Given the description of an element on the screen output the (x, y) to click on. 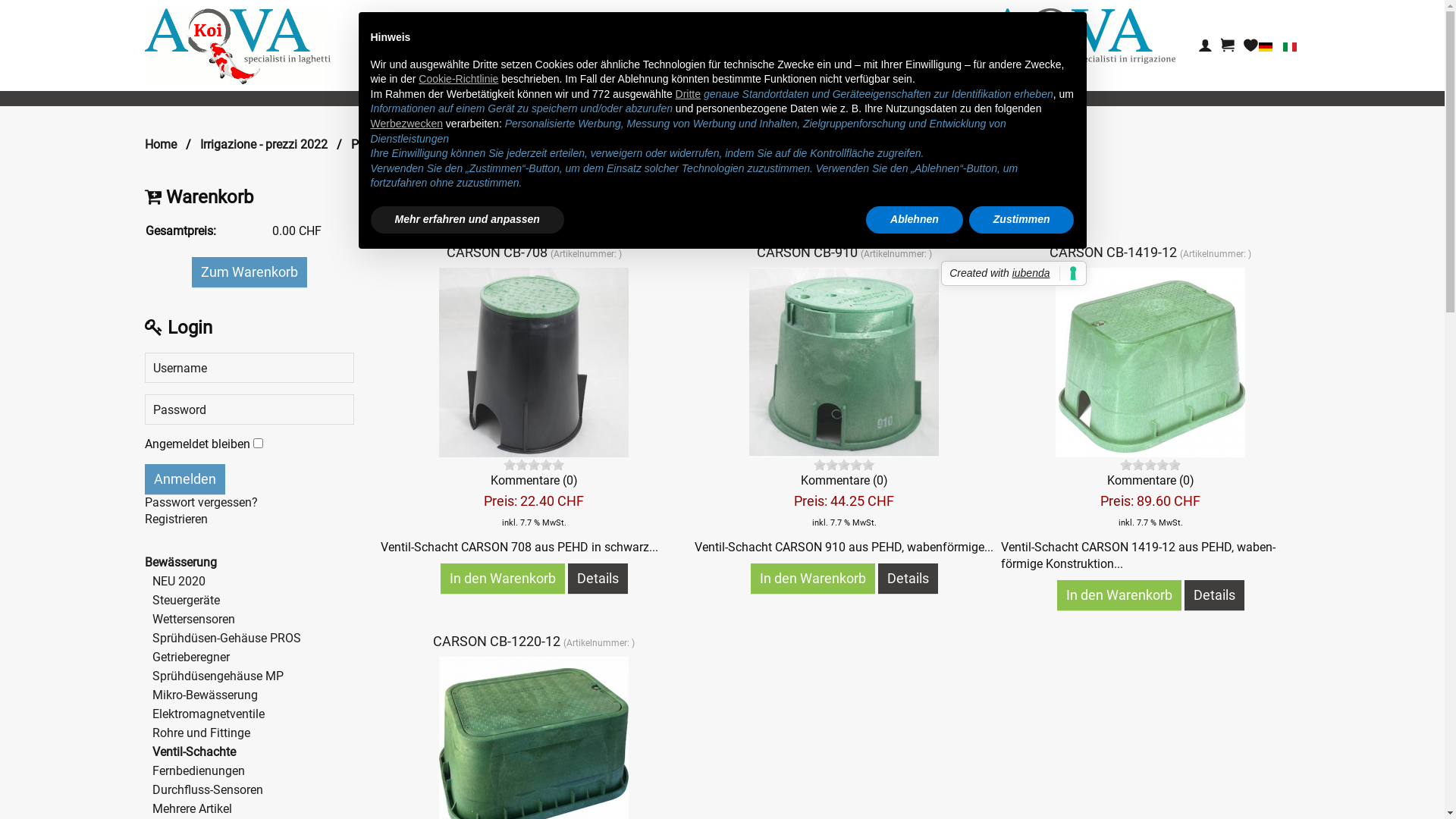
Cookie-Richtlinie Element type: text (458, 78)
Passwort vergessen? Element type: text (200, 502)
Created with iubenda Element type: text (1013, 273)
Registrieren Element type: text (175, 518)
Italian Element type: hover (1289, 46)
NEU 2020 Element type: text (177, 581)
Getrieberegner Element type: text (190, 656)
Anmelden Element type: text (184, 479)
In den Warenkorb Element type: text (1119, 595)
Wettersensoren Element type: text (192, 618)
Zustimmen Element type: text (1021, 219)
CARSON CB-708 Element type: hover (533, 362)
Details Element type: text (597, 578)
Ventil-Schachte Element type: text (193, 751)
Werbezwecken Element type: text (406, 123)
Zum Warenkorb Element type: text (249, 271)
In den Warenkorb Element type: text (502, 578)
Rohre und Fittinge Element type: text (200, 732)
CARSON CB-1419-12 Element type: text (1114, 252)
Details Element type: text (908, 578)
Home Element type: text (159, 144)
Elektromagnetventile Element type: text (207, 713)
In den Warenkorb Element type: text (812, 578)
CARSON CB-910 Element type: text (808, 252)
Dritte Element type: text (687, 93)
Ablehnen Element type: text (914, 219)
Mehrere Artikel Element type: text (191, 808)
CARSON CB-1220-12 Element type: text (498, 641)
Zum Warenkorb Element type: text (249, 272)
Irrigazione - prezzi 2022 Element type: text (263, 144)
AQVA SHOP Element type: text (721, 45)
Fernbedienungen Element type: text (197, 770)
Durchfluss-Sensoren Element type: text (206, 789)
Mehr erfahren und anpassen Element type: text (466, 219)
Details Element type: text (1214, 595)
CARSON CB-708 Element type: text (498, 252)
CARSON CB-1419-12 Element type: hover (1150, 362)
Deutsch (Deutschland) Element type: hover (1265, 46)
CARSON CB-910 Element type: hover (843, 362)
